Given the description of an element on the screen output the (x, y) to click on. 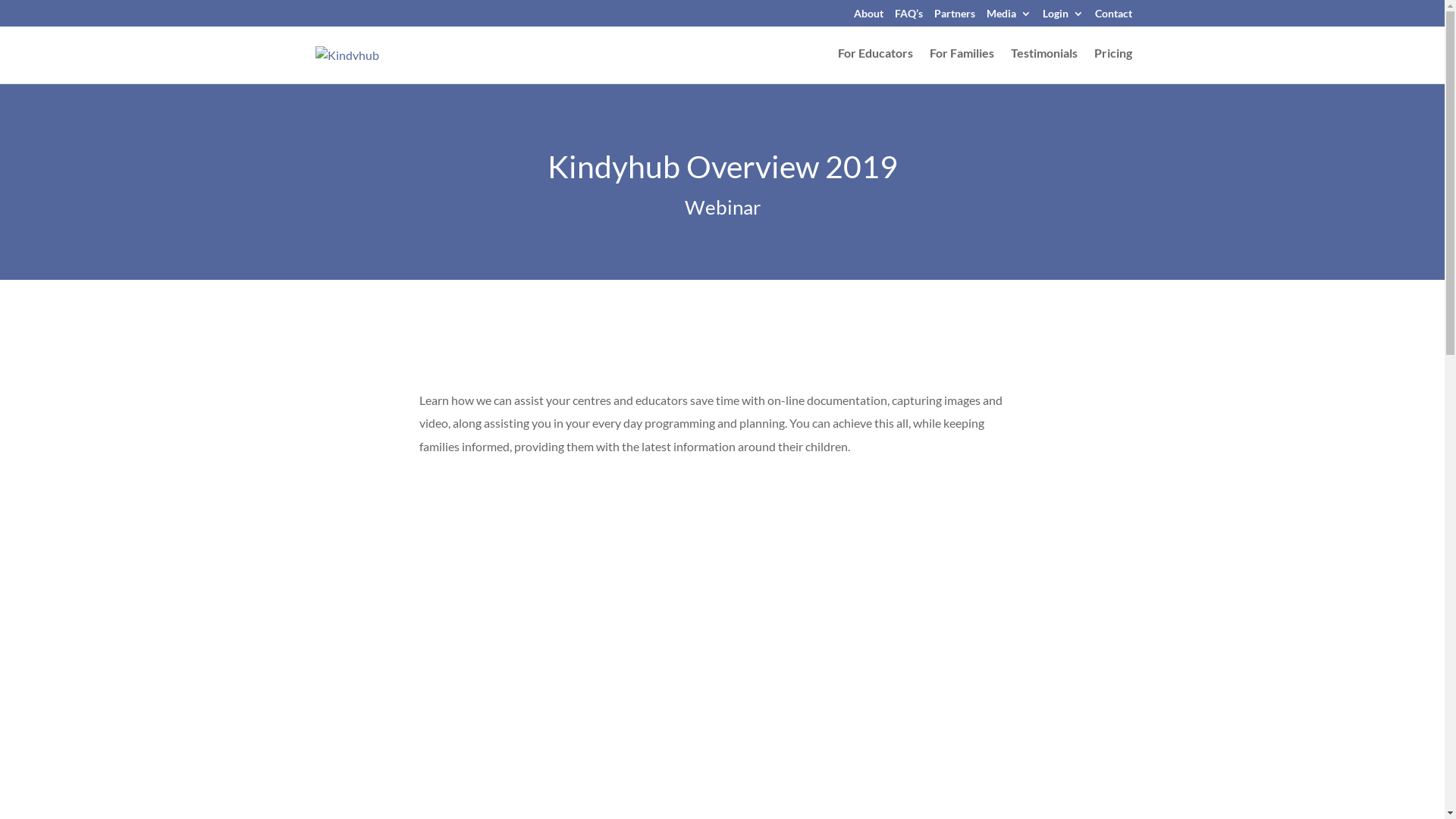
Testimonials Element type: text (1043, 65)
Pricing Element type: text (1112, 65)
About Element type: text (868, 16)
For Educators Element type: text (874, 65)
Contact Element type: text (1113, 16)
Partners Element type: text (954, 16)
Login Element type: text (1061, 16)
For Families Element type: text (961, 65)
Media Element type: text (1007, 16)
